Given the description of an element on the screen output the (x, y) to click on. 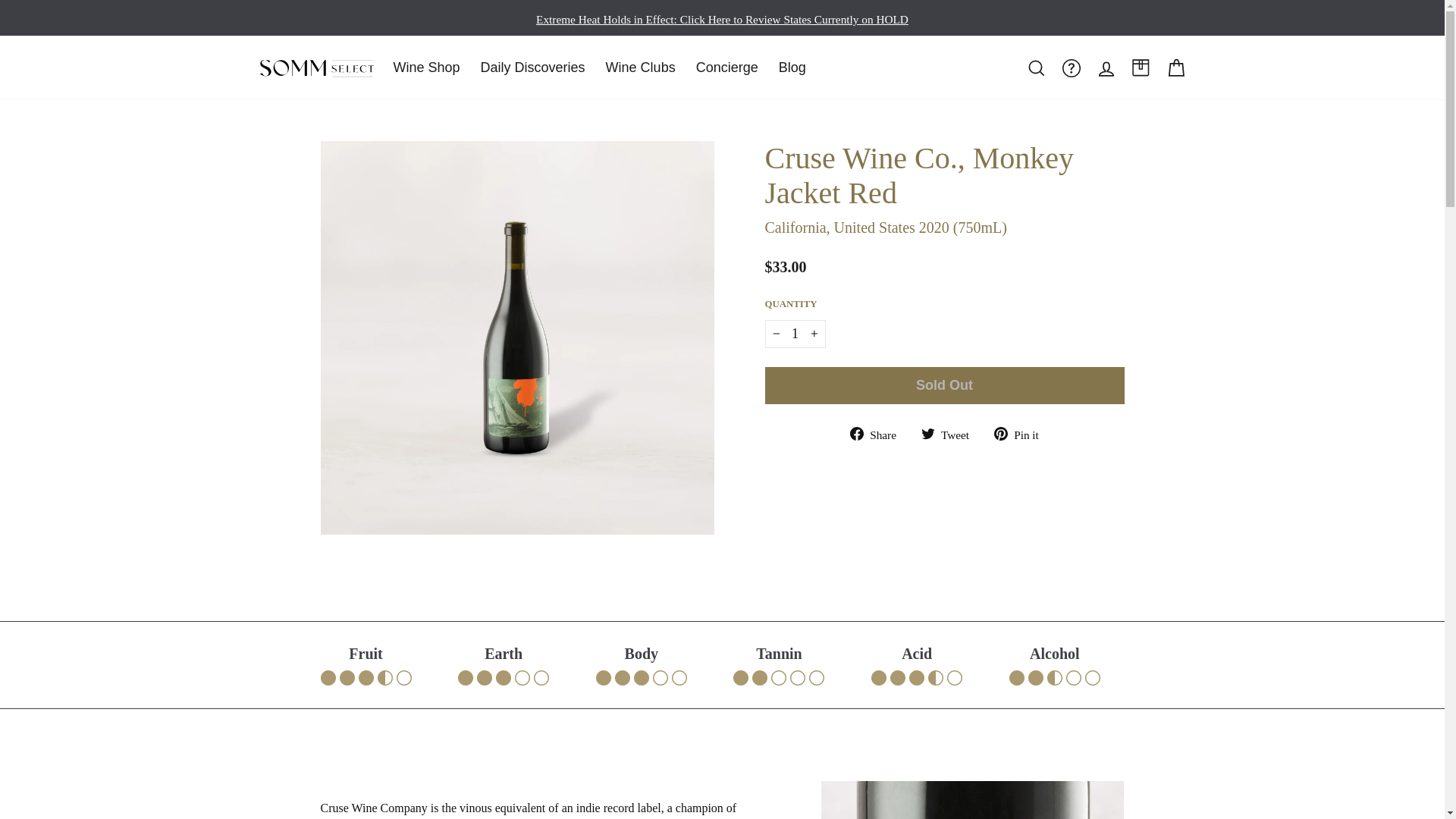
Tweet on Twitter (950, 435)
Share on Facebook (878, 435)
Pin on Pinterest (1016, 435)
1 (794, 334)
